Given the description of an element on the screen output the (x, y) to click on. 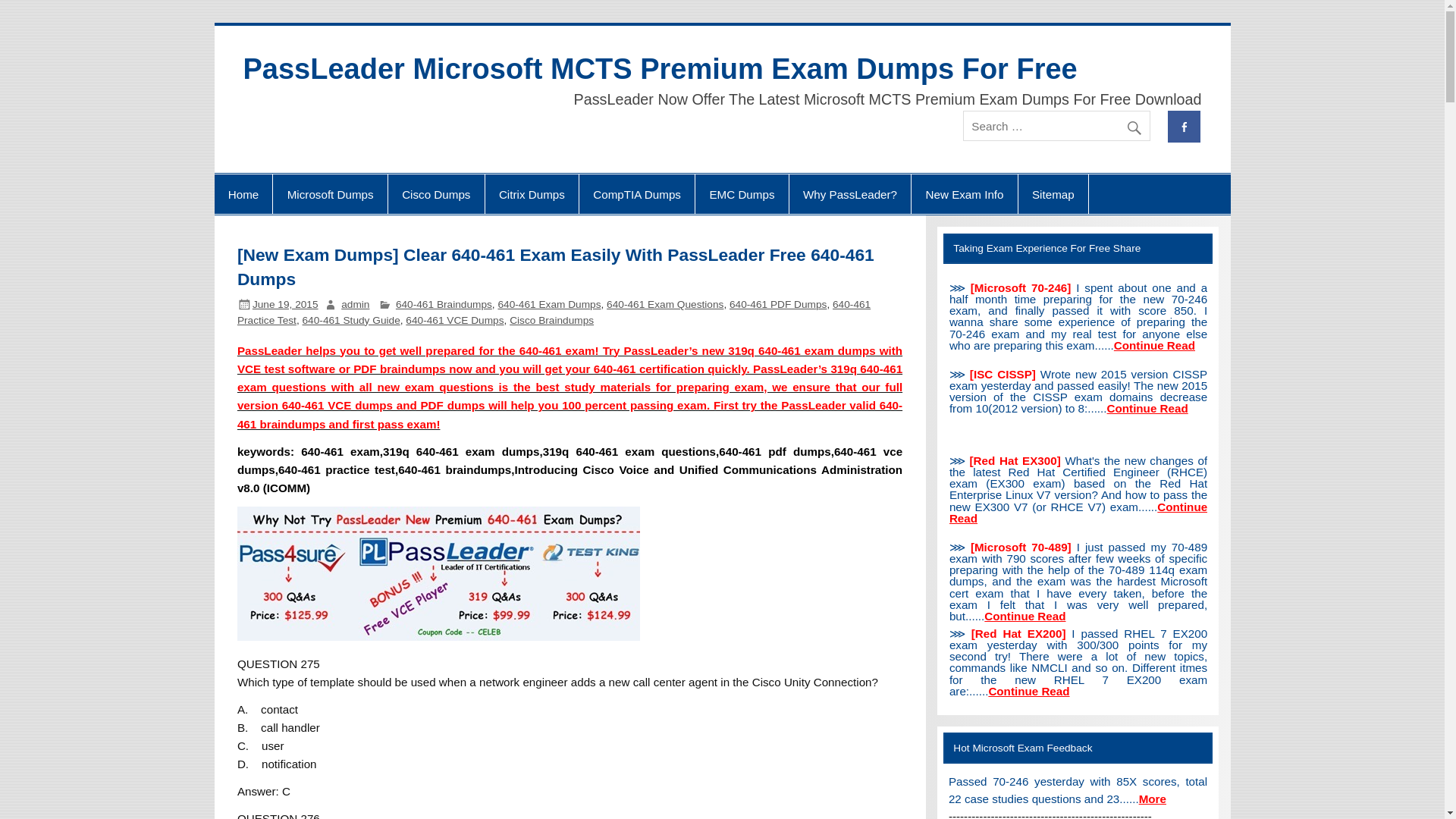
Why PassLeader? (850, 193)
Continue Read (1154, 345)
9:13 am (284, 304)
640-461 Study Guide (351, 319)
June 19, 2015 (284, 304)
640-461 Exam Questions (665, 304)
Cisco Dumps (436, 193)
640-461 PDF Dumps (778, 304)
EMC Dumps (742, 193)
Citrix Dumps (531, 193)
640-461 Braindumps (444, 304)
Home (243, 193)
PassLeader Microsoft MCTS Premium Exam Dumps For Free (660, 69)
Microsoft Dumps (330, 193)
Cisco Braindumps (551, 319)
